Given the description of an element on the screen output the (x, y) to click on. 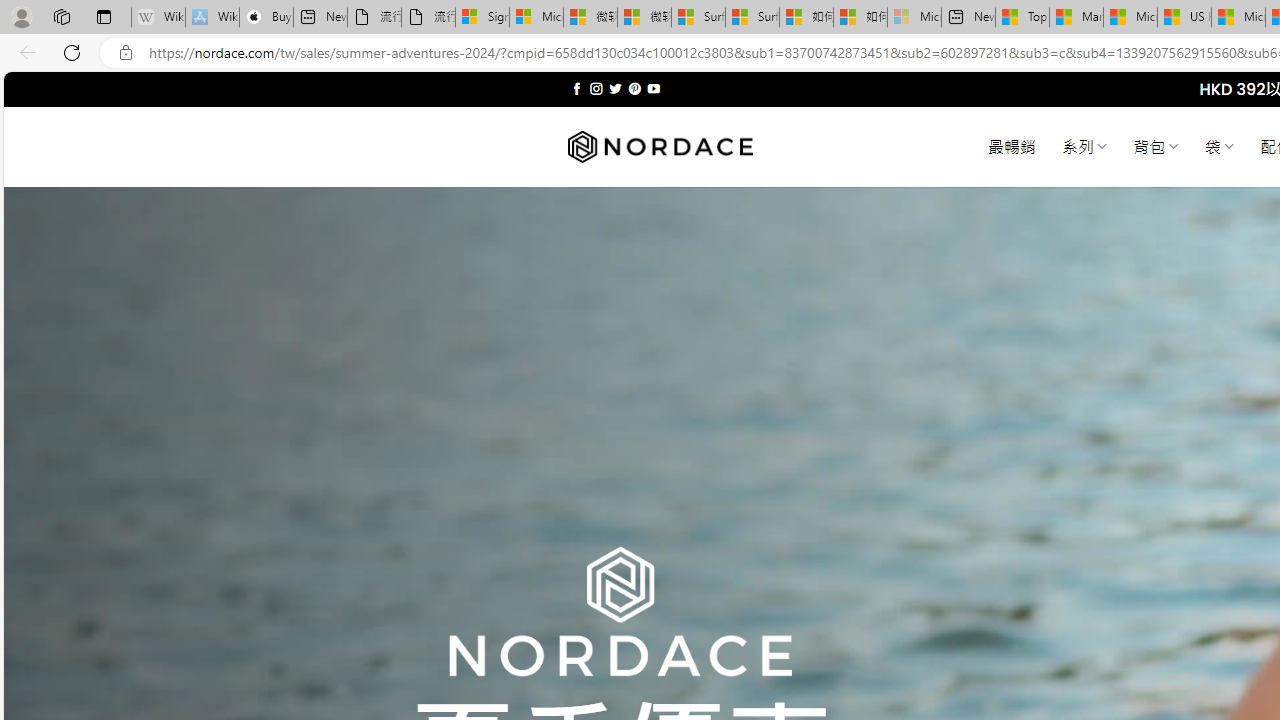
Follow on YouTube (653, 88)
Microsoft Services Agreement (536, 17)
US Heat Deaths Soared To Record High Last Year (1184, 17)
